Given the description of an element on the screen output the (x, y) to click on. 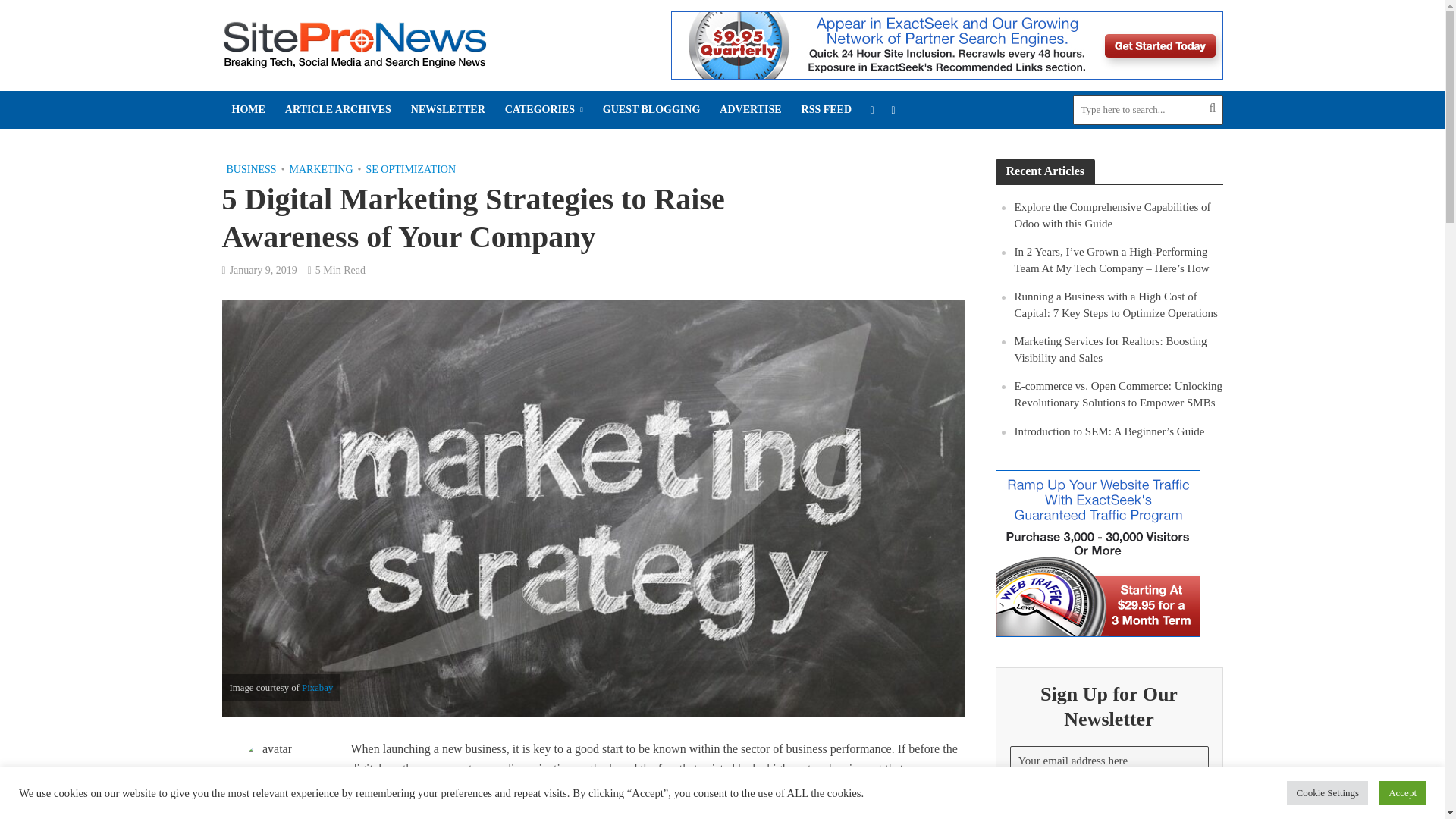
CATEGORIES (543, 109)
NEWSLETTER (448, 109)
ARTICLE ARCHIVES (338, 109)
RSS FEED (826, 109)
GUEST BLOGGING (651, 109)
Your email address here (1109, 760)
ADVERTISE (750, 109)
Subscribe (1108, 804)
HOME (248, 109)
